Given the description of an element on the screen output the (x, y) to click on. 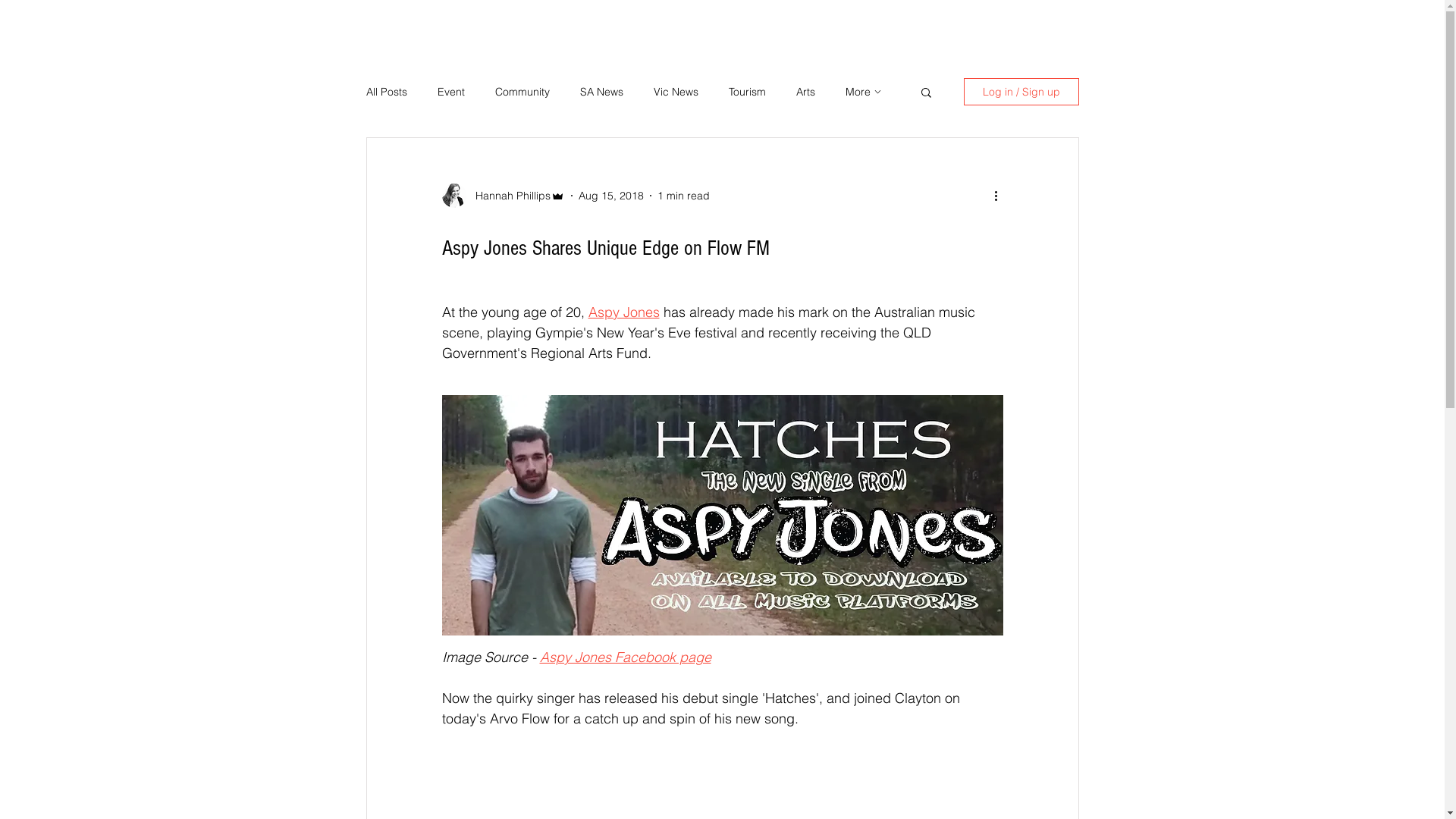
Arts Element type: text (805, 91)
Community Element type: text (521, 91)
Log in / Sign up Element type: text (1020, 91)
SA News Element type: text (600, 91)
Vic News Element type: text (675, 91)
Aspy Jones Element type: text (623, 311)
Aspy Jones Facebook page Element type: text (625, 656)
remote content Element type: hover (721, 794)
All Posts Element type: text (385, 91)
Event Element type: text (450, 91)
Tourism Element type: text (746, 91)
